Given the description of an element on the screen output the (x, y) to click on. 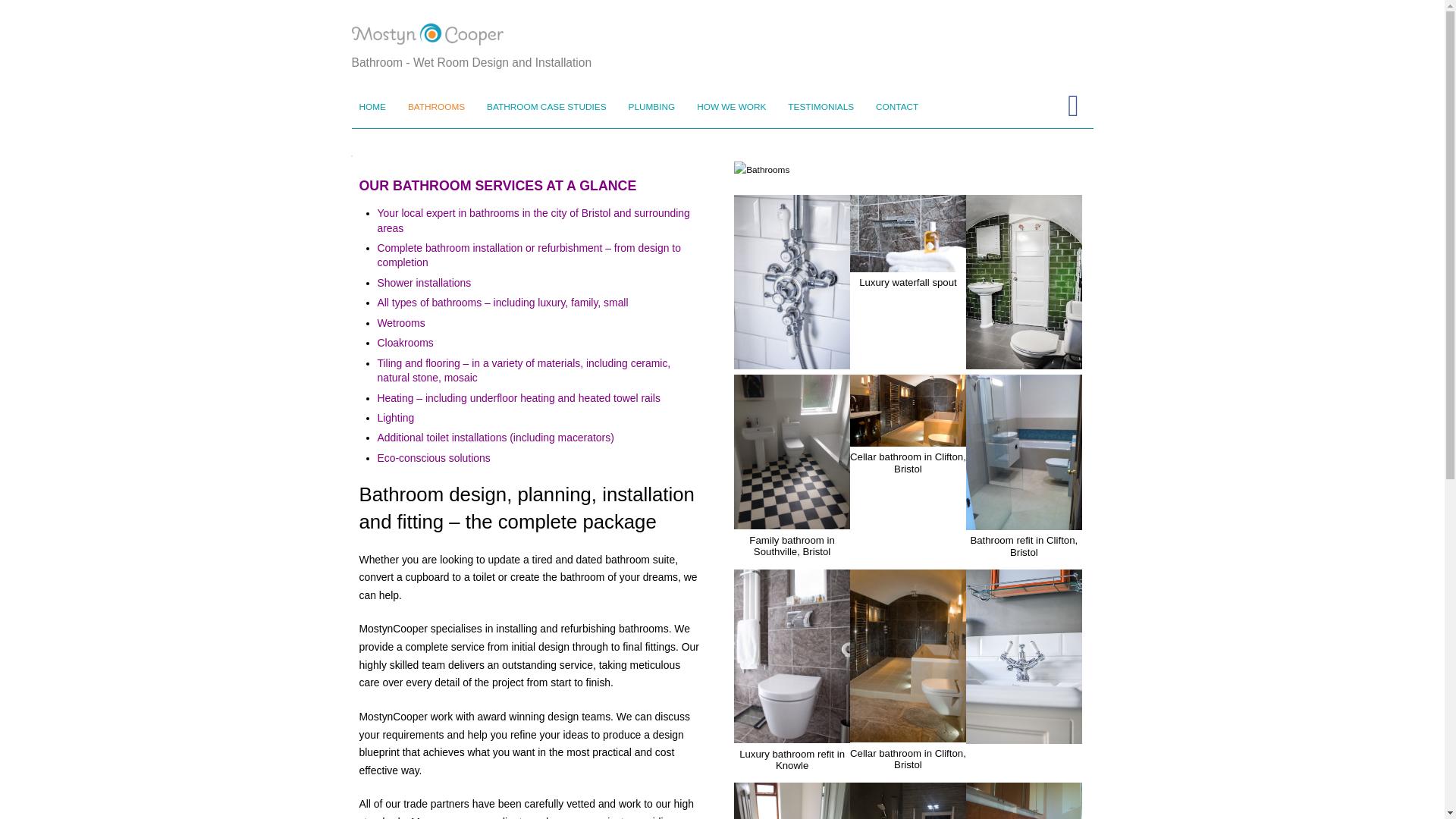
Cellar bathroom in Clifton, Bristol (908, 436)
HOME (373, 107)
HOW WE WORK (730, 107)
TESTIMONIALS (820, 107)
PLUMBING (651, 107)
Luxury bathroom refit in Knowle (791, 733)
MostynCooper (427, 33)
MostynCooper (427, 34)
Bathroom refit in Clifton, Bristol (1023, 520)
Cellar bathroom in Clifton, Bristol (908, 732)
BATHROOMS (435, 107)
Family bathroom in Southville, Bristol (791, 519)
Luxury waterfall spout (908, 262)
BATHROOM CASE STUDIES (546, 107)
CONTACT (896, 107)
